Given the description of an element on the screen output the (x, y) to click on. 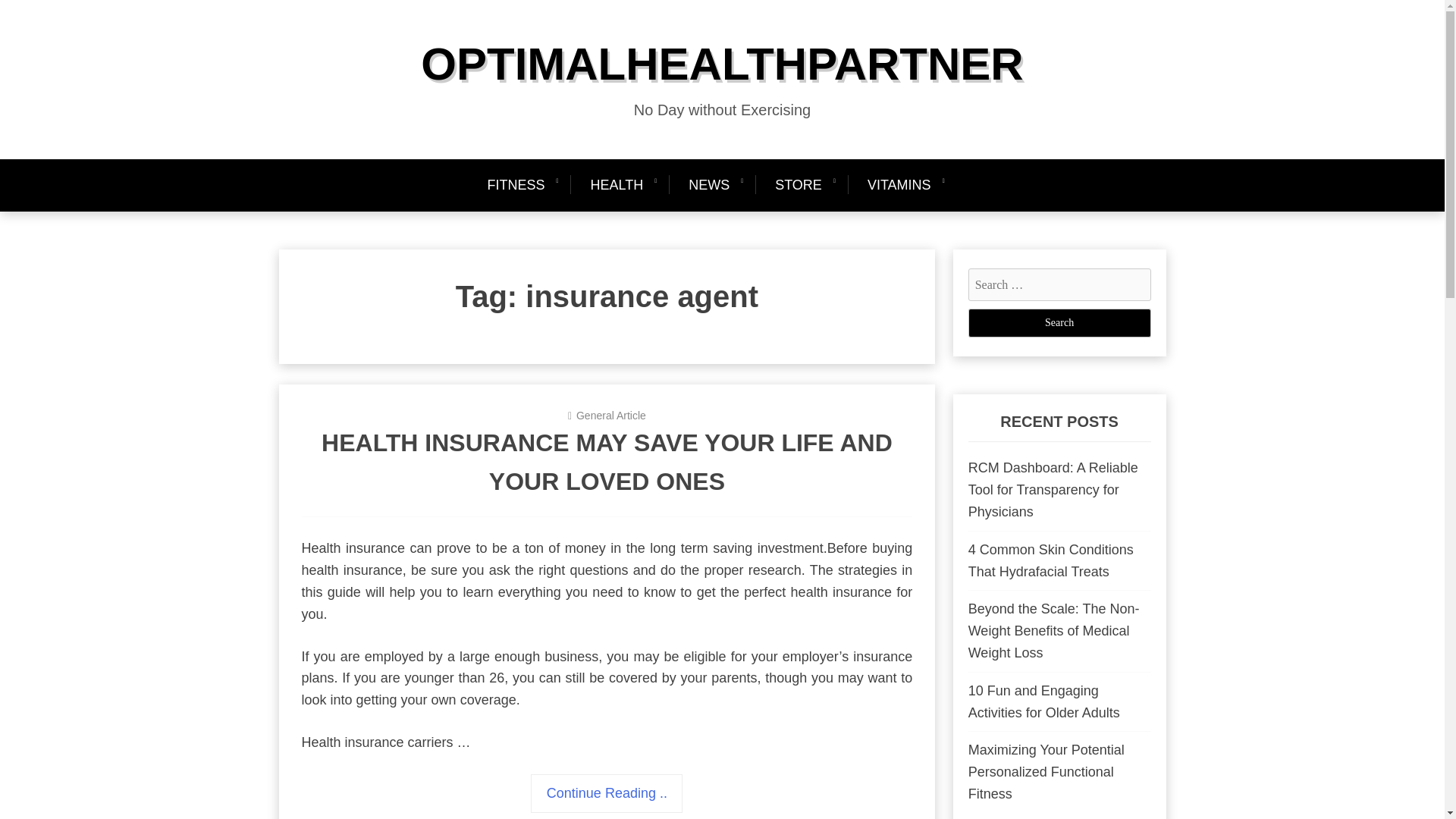
Search (1059, 322)
Search (1059, 322)
OPTIMALHEALTHPARTNER (721, 63)
FITNESS (522, 184)
HEALTH (616, 184)
